Given the description of an element on the screen output the (x, y) to click on. 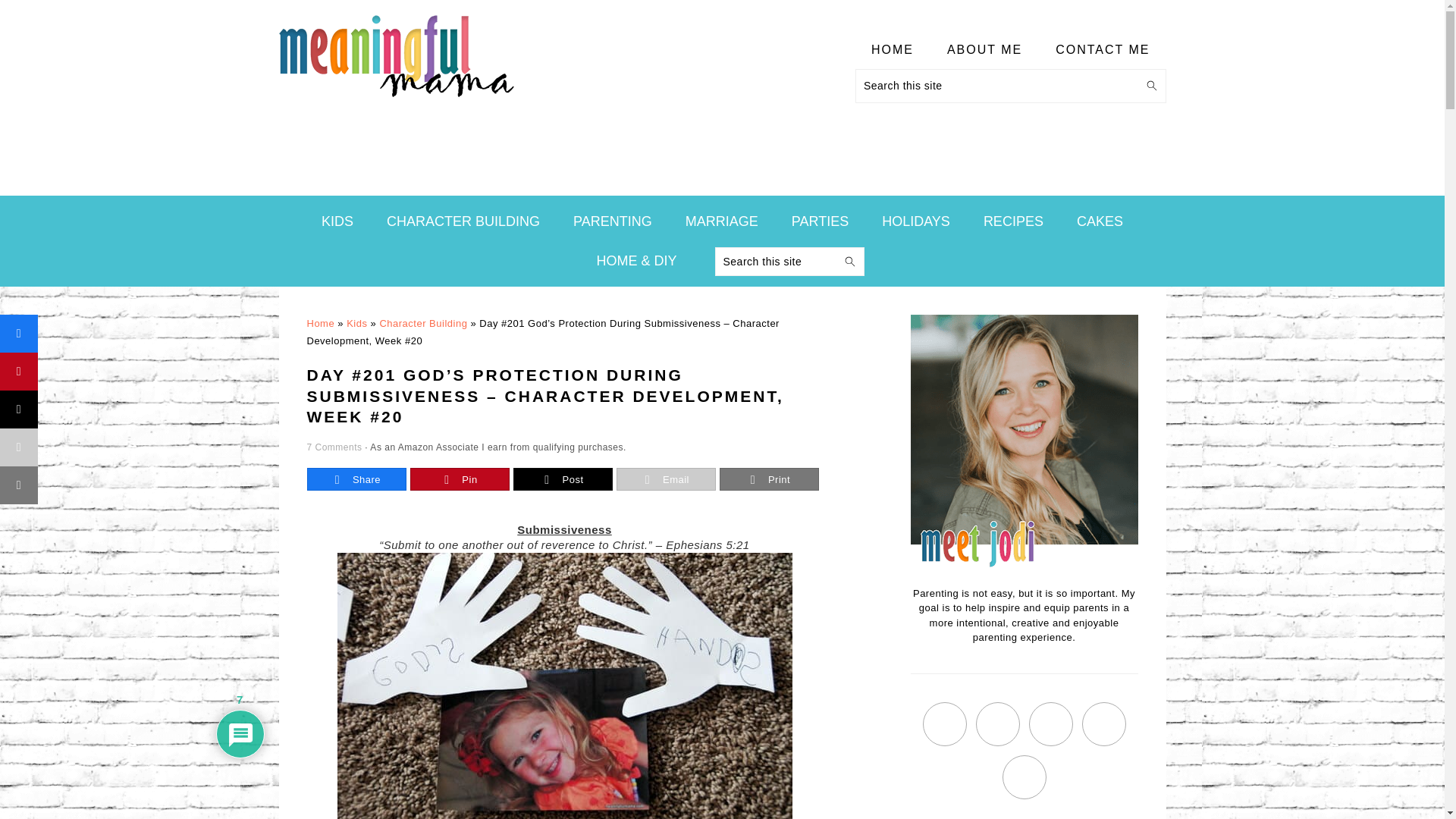
PARENTING (612, 220)
Meaningfulmama.com (396, 56)
PARTIES (820, 220)
CONTACT ME (1102, 49)
CHARACTER BUILDING (463, 220)
KIDS (337, 220)
